Given the description of an element on the screen output the (x, y) to click on. 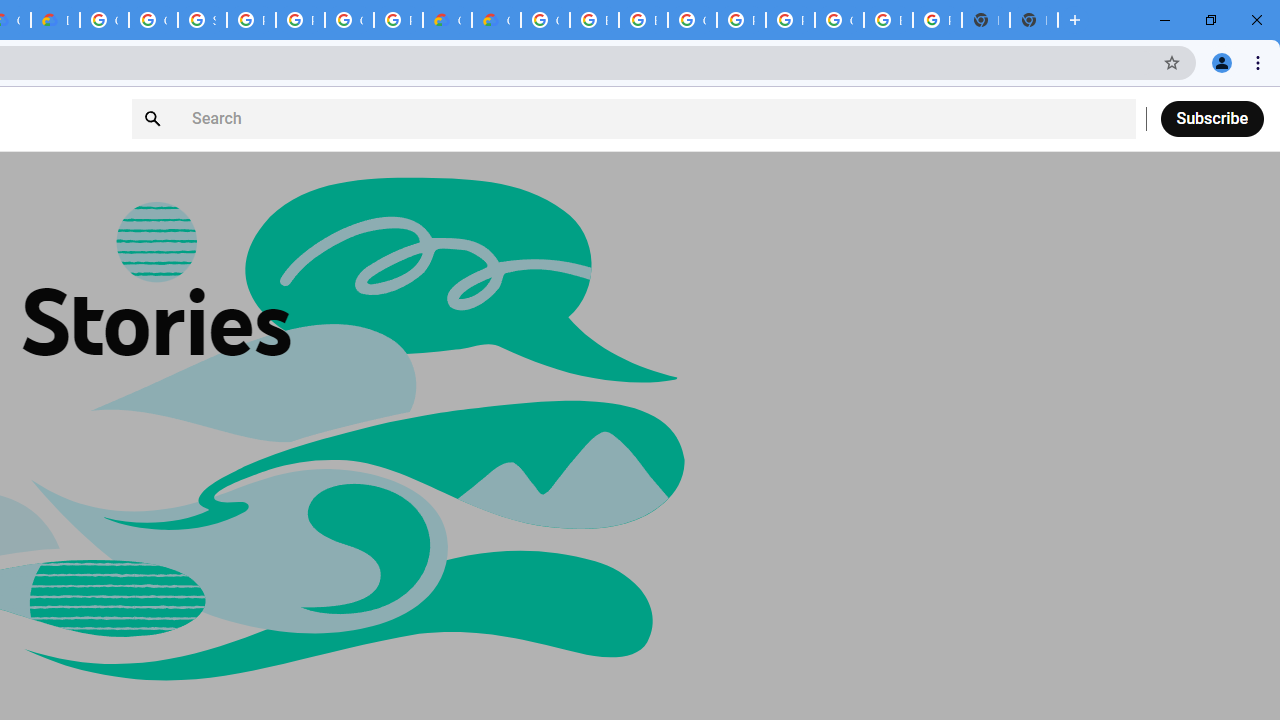
Browse Chrome as a guest - Computer - Google Chrome Help (594, 20)
Close Search (1111, 119)
Google Cloud Platform (104, 20)
AutomationID: search_bar_input_header (633, 118)
Google Cloud Platform (839, 20)
Google Cloud Platform (349, 20)
